Given the description of an element on the screen output the (x, y) to click on. 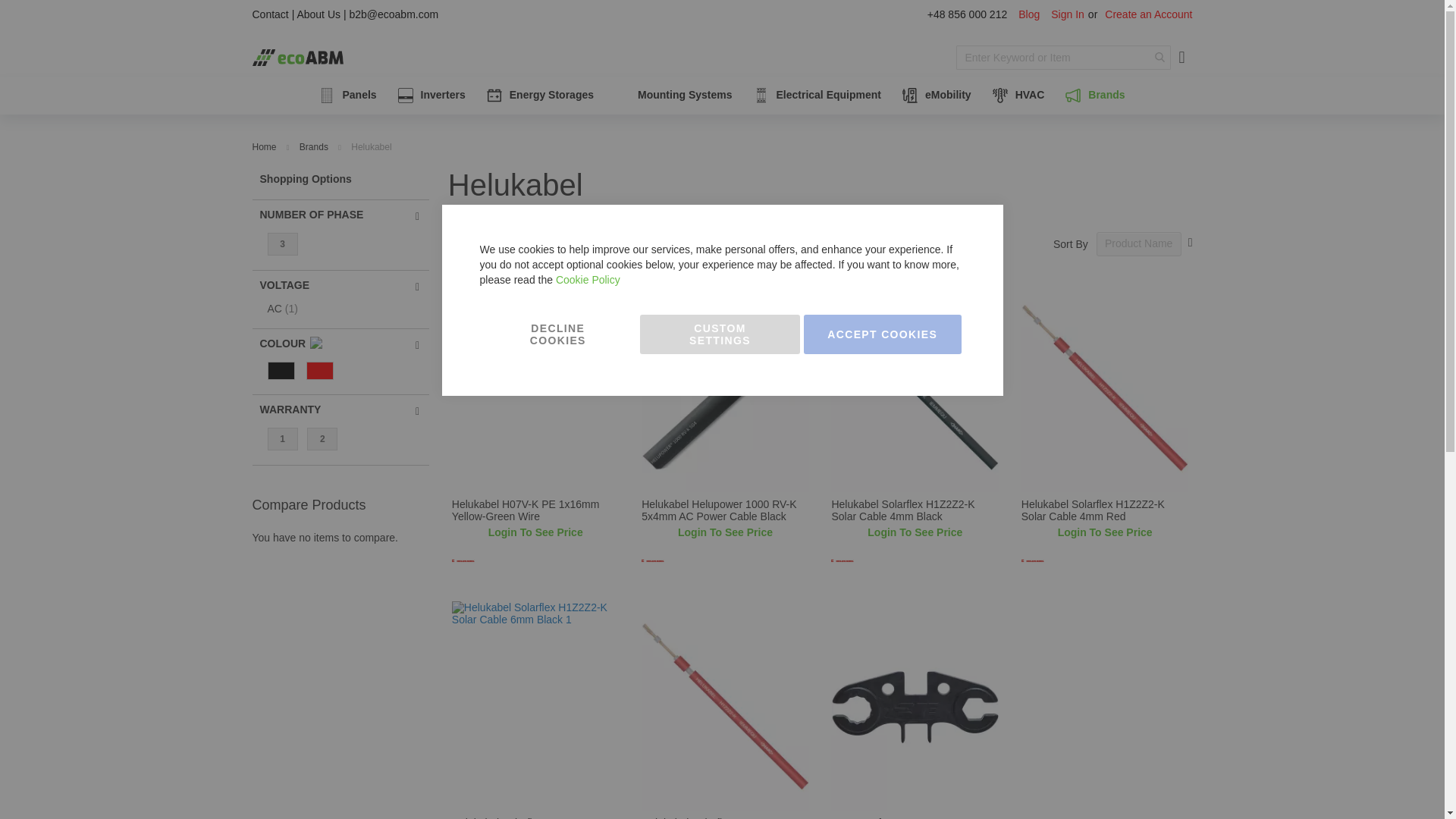
Blog (1028, 14)
Cookie Policy (588, 279)
About Us (318, 14)
logo b2b.ecoabm.com (296, 57)
Cookie Policy (588, 279)
Contact (269, 14)
About Us (318, 14)
CUSTOM SETTINGS (719, 333)
Contact (269, 14)
Search (1159, 57)
DECLINE COOKIES (557, 333)
Create an Account (1148, 14)
ACCEPT COOKIES (881, 333)
Sign In (1067, 14)
